Given the description of an element on the screen output the (x, y) to click on. 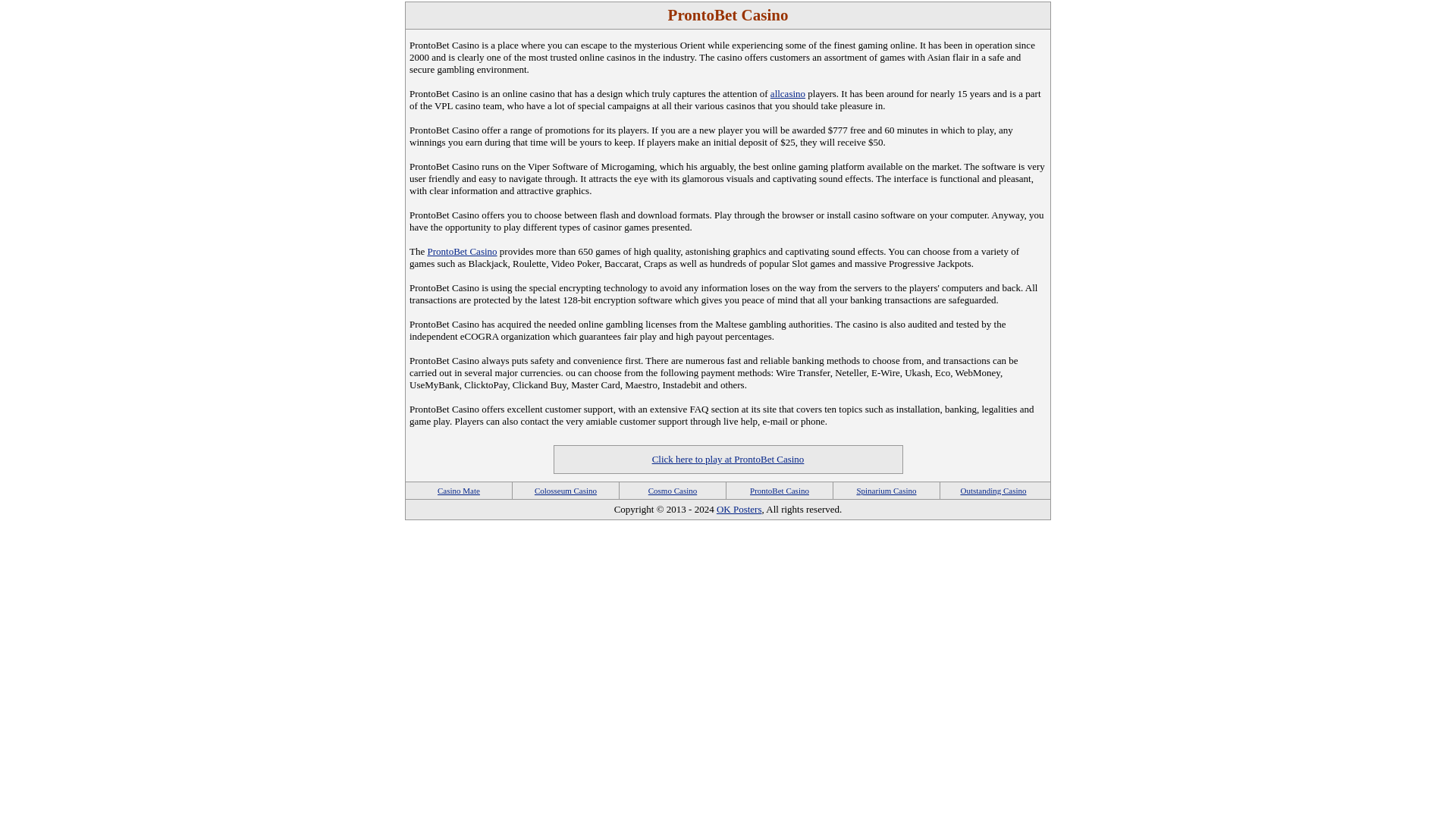
OK Posters (738, 509)
Spinarium Casino (885, 490)
Click here to play at ProntoBet Casino (728, 459)
Colosseum Casino (565, 490)
Casino Mate (459, 490)
allcasino (787, 93)
Cosmo Casino (672, 490)
ProntoBet Casino (461, 251)
ProntoBet Casino (779, 490)
Outstanding Casino (992, 490)
